Given the description of an element on the screen output the (x, y) to click on. 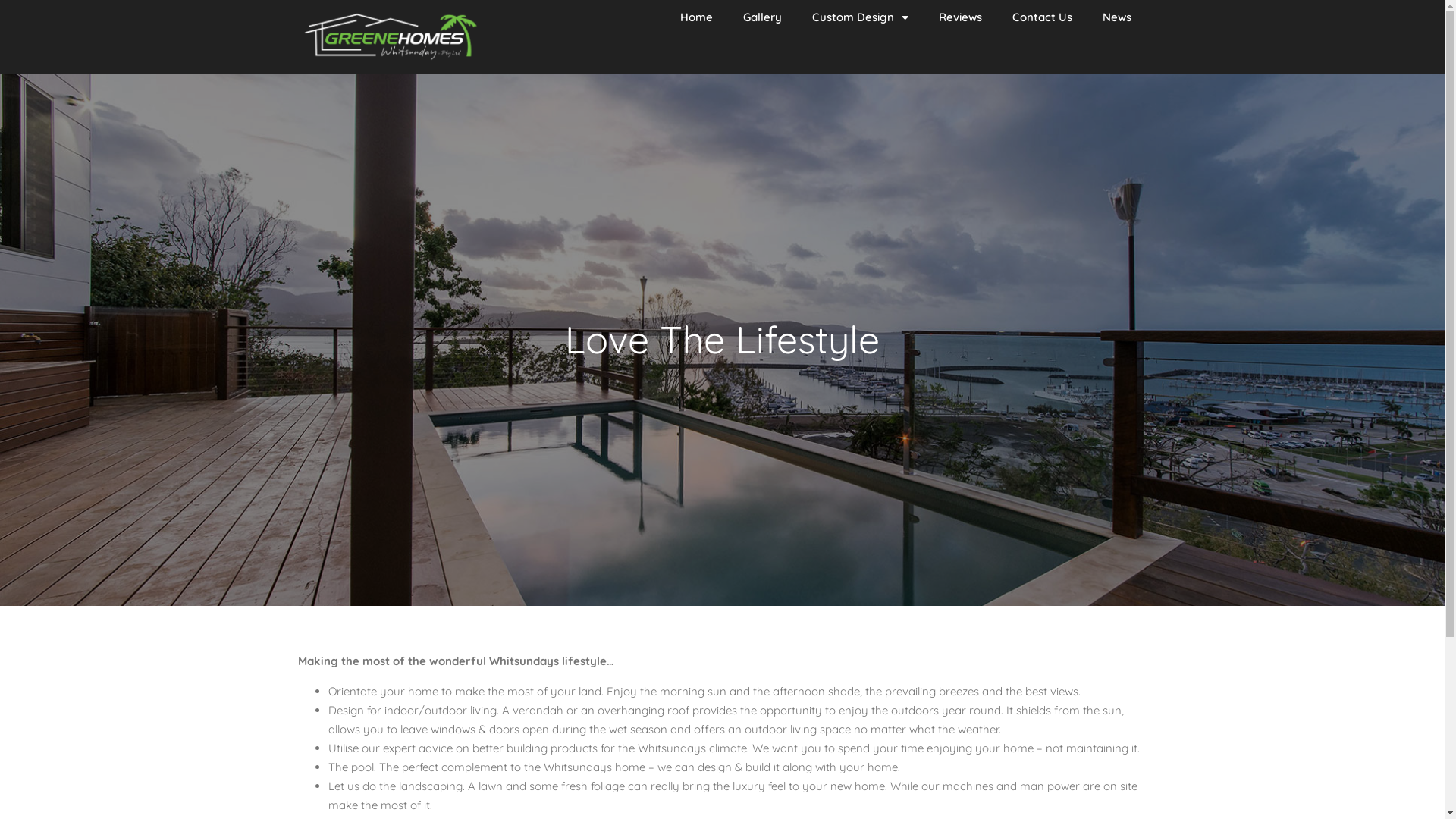
Custom Design Element type: text (860, 17)
Contact Us Element type: text (1042, 17)
Home Element type: text (696, 17)
News Element type: text (1116, 17)
Gallery Element type: text (762, 17)
Reviews Element type: text (960, 17)
